Given the description of an element on the screen output the (x, y) to click on. 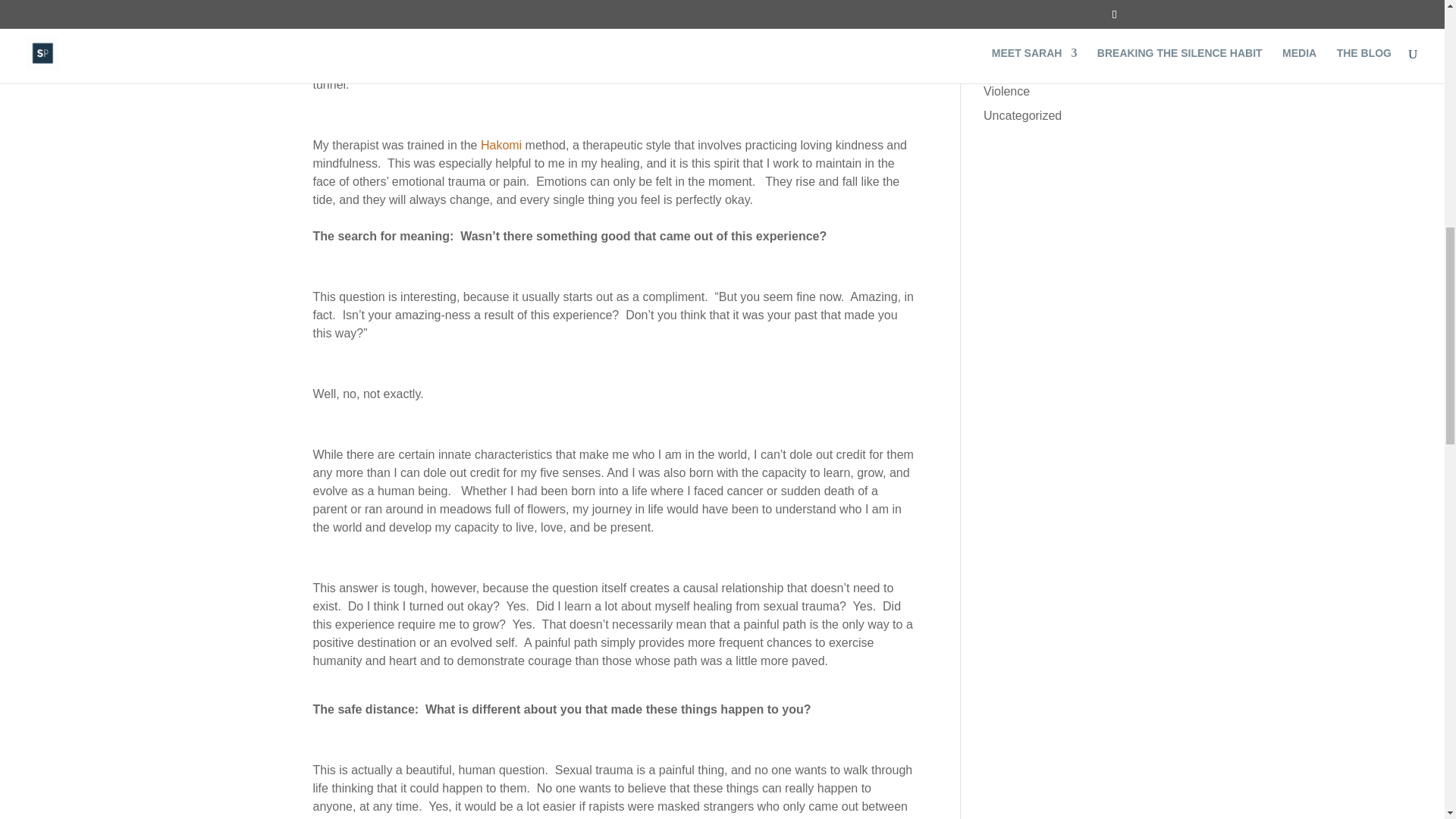
Hakomi (500, 144)
Data, research, and facts about sexual violence (1035, 81)
